Given the description of an element on the screen output the (x, y) to click on. 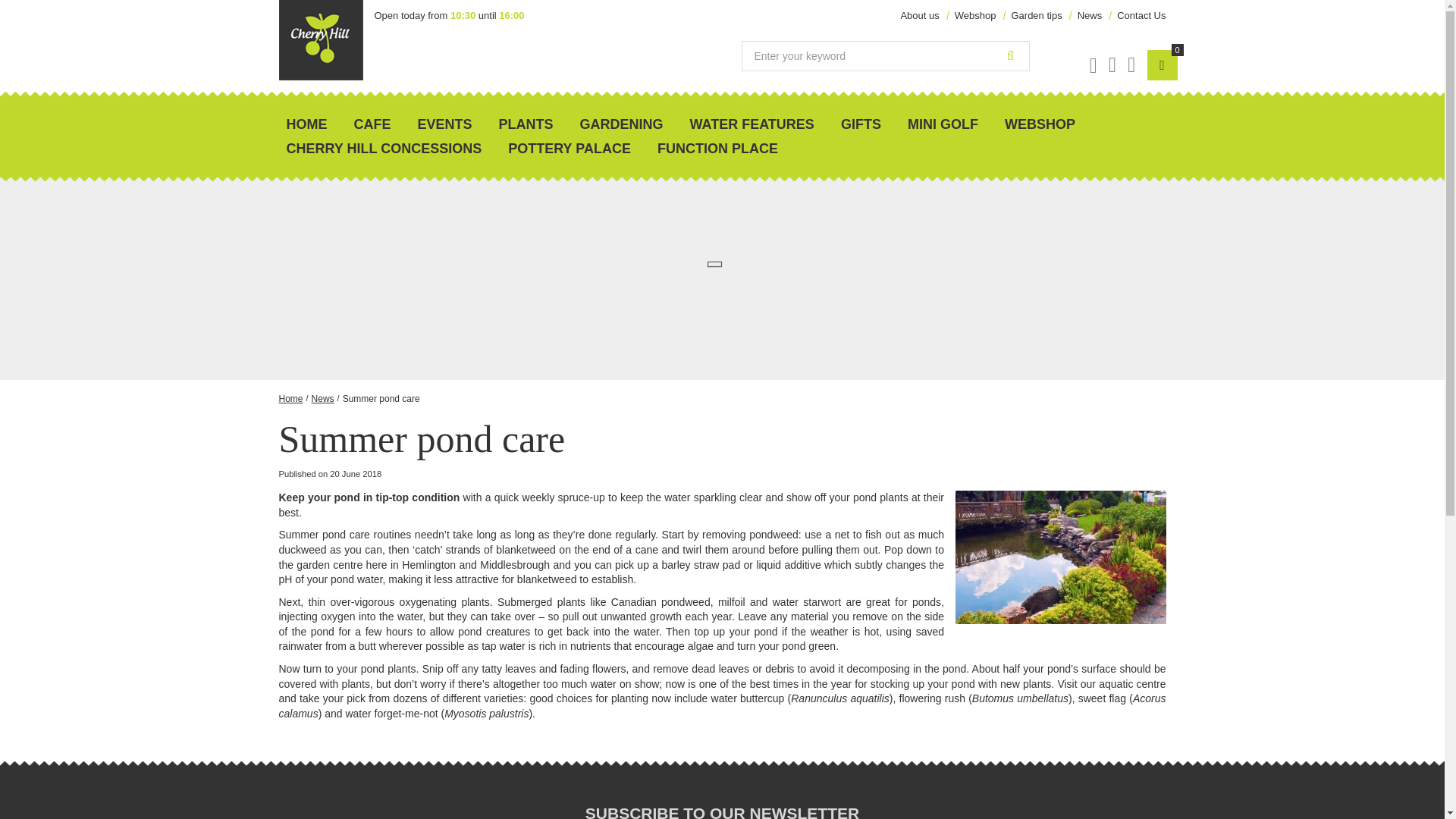
Home (306, 124)
Home (290, 399)
Search (1010, 55)
Webshop (975, 15)
Cafe (371, 124)
MINI GOLF (942, 124)
About us (919, 15)
HOME (306, 124)
News (1089, 15)
Contact Us (1141, 15)
